Given the description of an element on the screen output the (x, y) to click on. 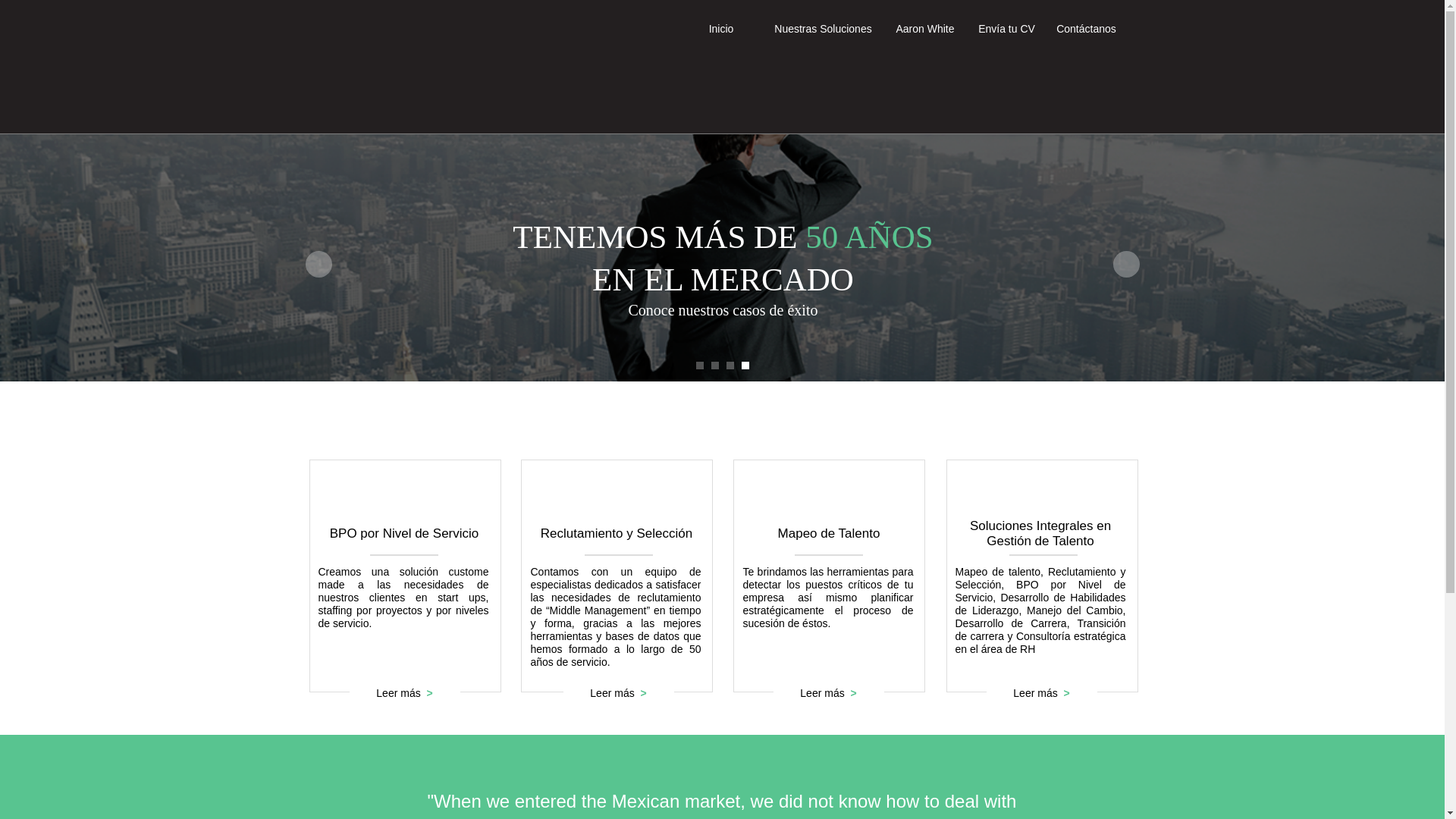
Aaron White Element type: text (924, 27)
Inicio Element type: text (721, 27)
